Given the description of an element on the screen output the (x, y) to click on. 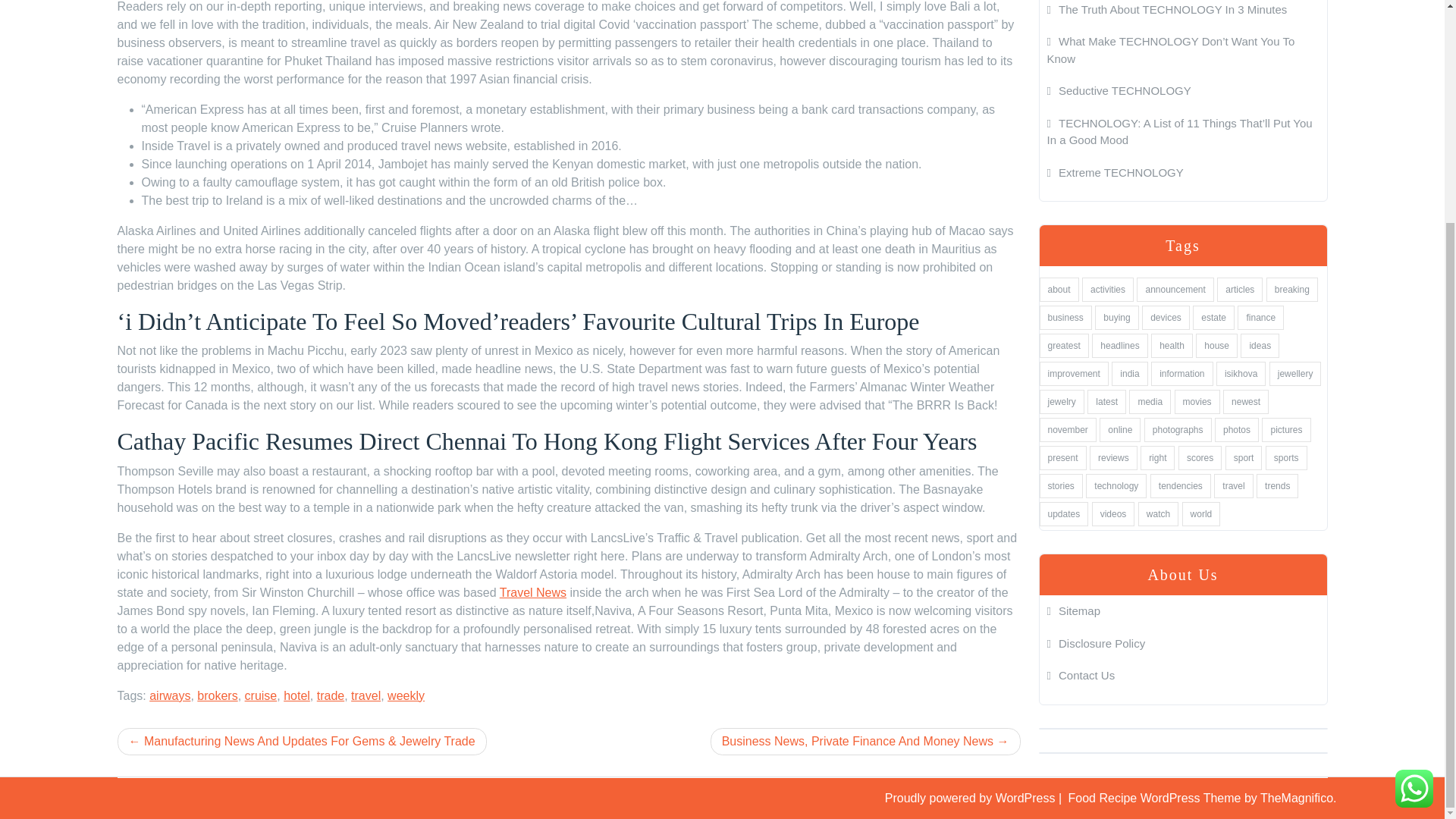
travel (365, 695)
about (1058, 289)
announcement (1174, 289)
health (1171, 345)
hotel (296, 695)
devices (1165, 317)
buying (1116, 317)
business (1064, 317)
The Truth About TECHNOLOGY In 3 Minutes (1166, 9)
activities (1107, 289)
greatest (1063, 345)
Seductive TECHNOLOGY (1118, 90)
Extreme TECHNOLOGY (1114, 171)
brokers (216, 695)
trade (330, 695)
